Given the description of an element on the screen output the (x, y) to click on. 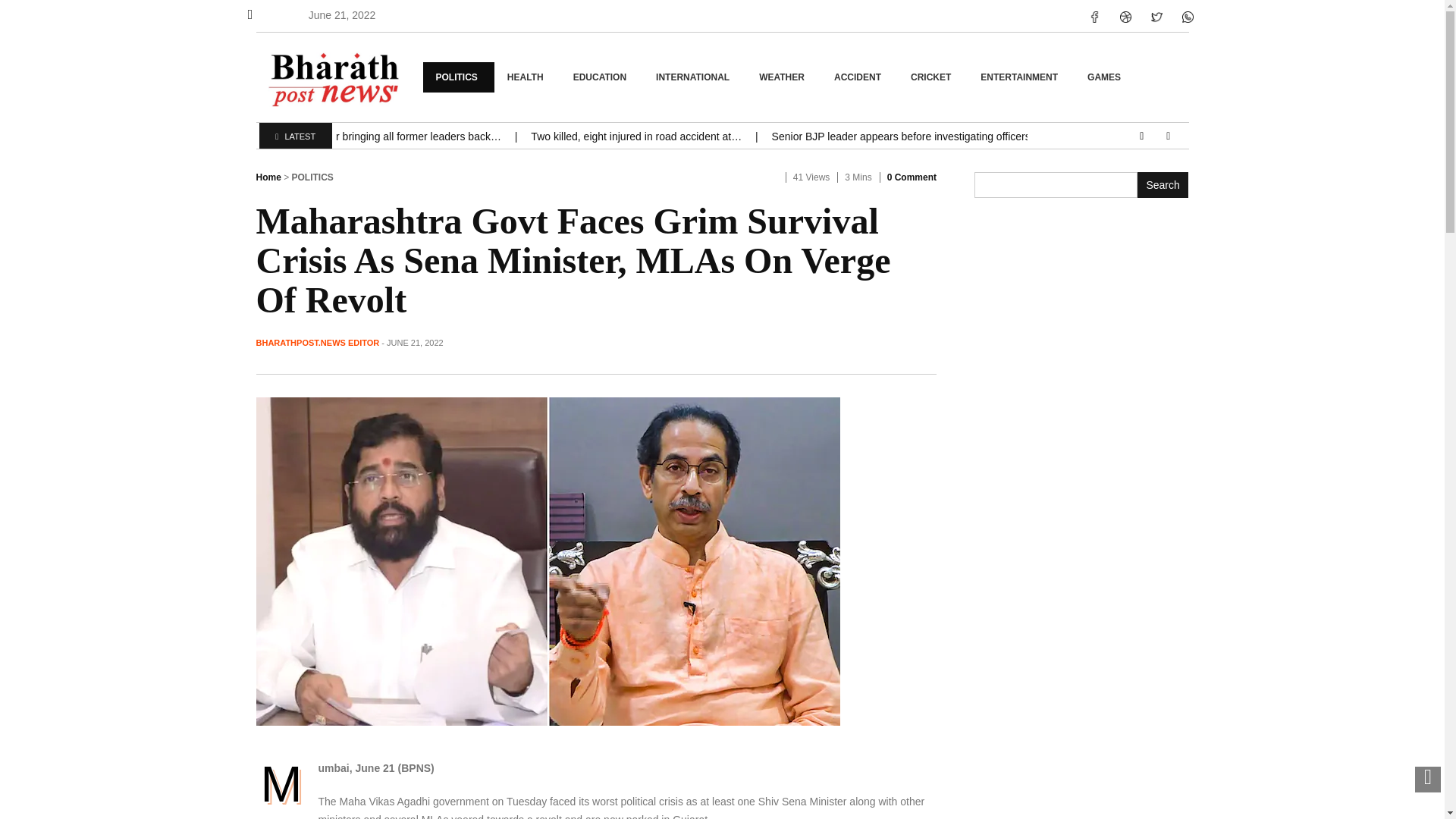
EDUCATION (601, 77)
BHARATHPOST.NEWS EDITOR (318, 342)
POLITICS (312, 176)
HEALTH (527, 77)
ACCIDENT (859, 77)
Twitter (1156, 16)
POLITICS (459, 77)
Search (1163, 184)
0 Comment (911, 176)
WEATHER (783, 77)
